Given the description of an element on the screen output the (x, y) to click on. 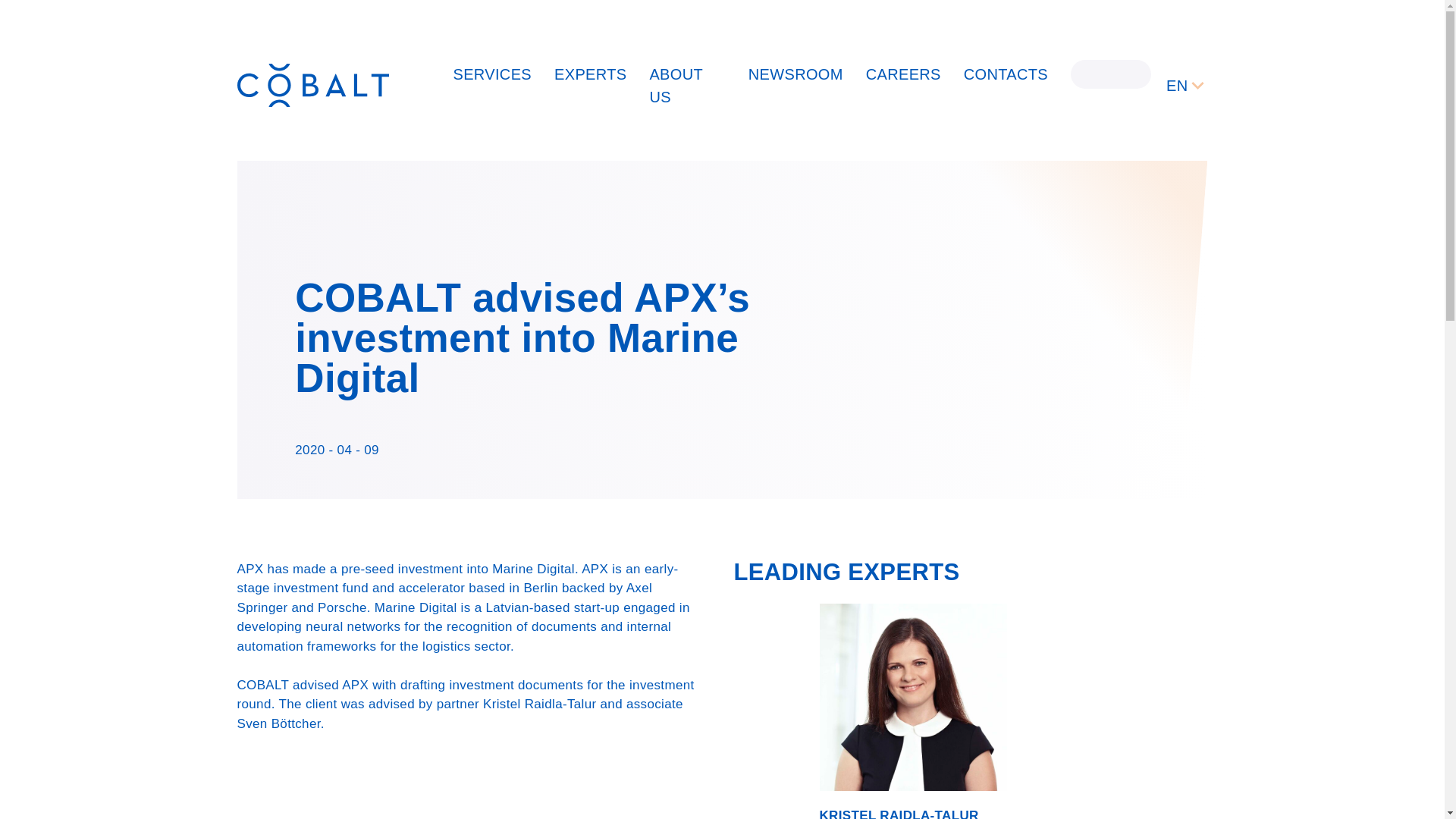
EXPERTS (590, 74)
KRISTEL RAIDLA-TALUR (898, 813)
CAREERS (903, 74)
SERVICES (492, 74)
ABOUT US (675, 85)
CONTACTS (1005, 74)
NEWSROOM (795, 74)
